Given the description of an element on the screen output the (x, y) to click on. 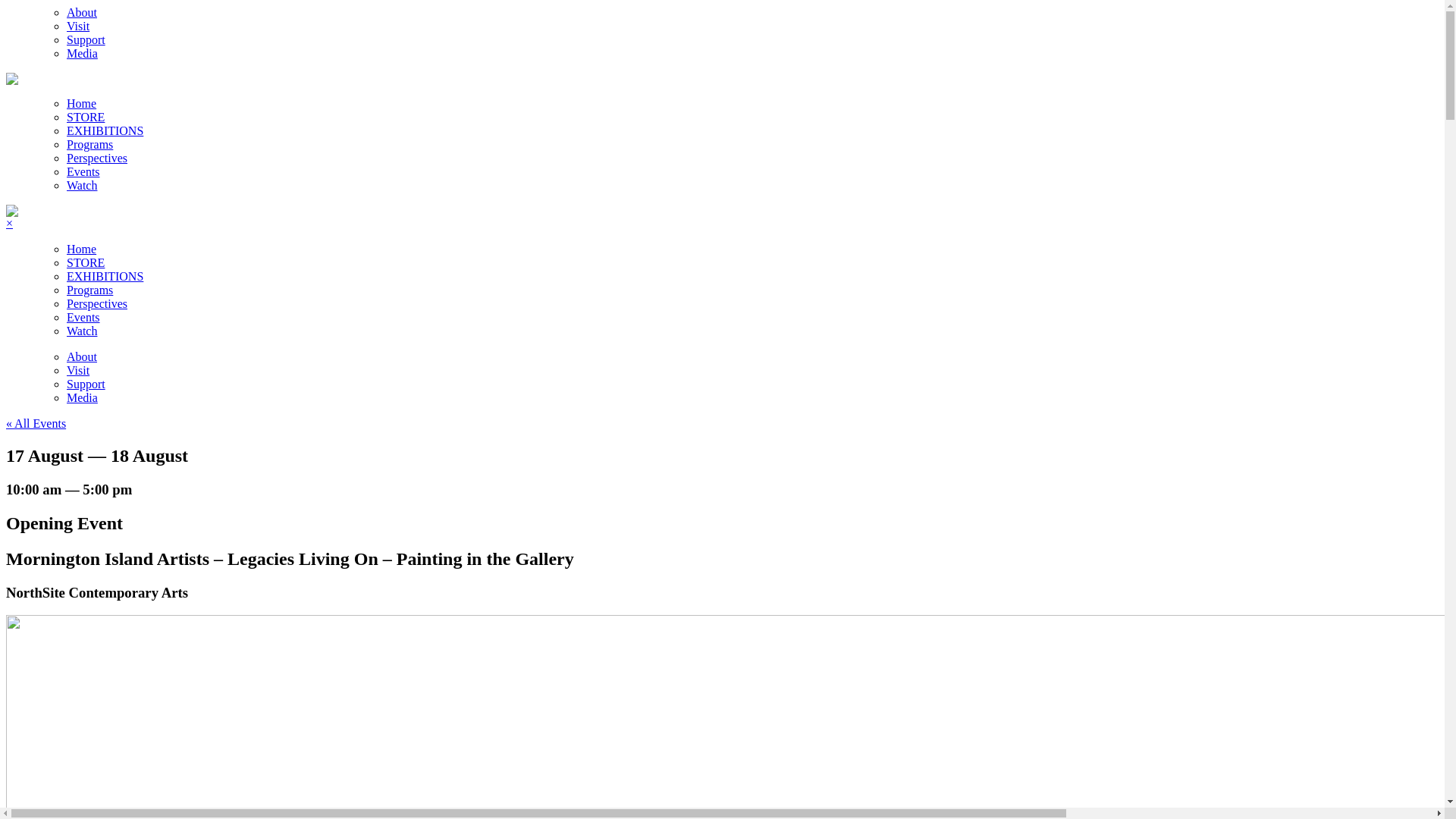
Visit Element type: text (77, 370)
Programs Element type: text (89, 289)
EXHIBITIONS Element type: text (104, 130)
About Element type: text (81, 356)
Home Element type: text (81, 248)
Home Element type: text (81, 103)
EXHIBITIONS Element type: text (104, 275)
Watch Element type: text (81, 330)
Media Element type: text (81, 53)
Perspectives Element type: text (96, 303)
Support Element type: text (85, 39)
STORE Element type: text (85, 116)
About Element type: text (81, 12)
Media Element type: text (81, 397)
Perspectives Element type: text (96, 157)
Events Element type: text (83, 316)
Events Element type: text (83, 171)
Watch Element type: text (81, 184)
Programs Element type: text (89, 144)
STORE Element type: text (85, 262)
Support Element type: text (85, 383)
Visit Element type: text (77, 25)
